Given the description of an element on the screen output the (x, y) to click on. 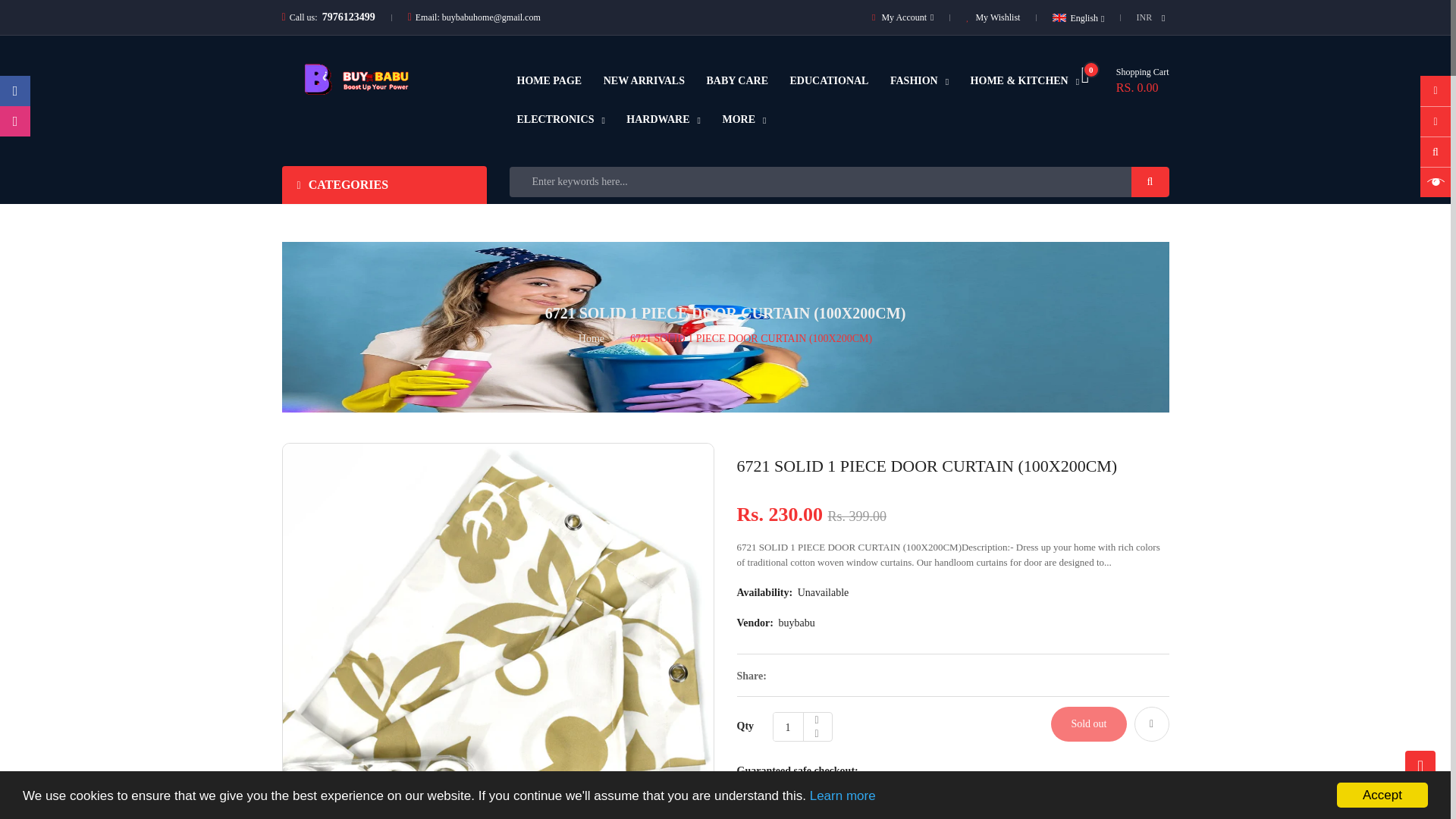
My Wishlist (993, 17)
1 (788, 727)
BABY CARE (743, 119)
NEW ARRIVALS (919, 81)
HOME PAGE (663, 119)
EDUCATIONAL (737, 80)
My Account (644, 80)
English (549, 80)
